Given the description of an element on the screen output the (x, y) to click on. 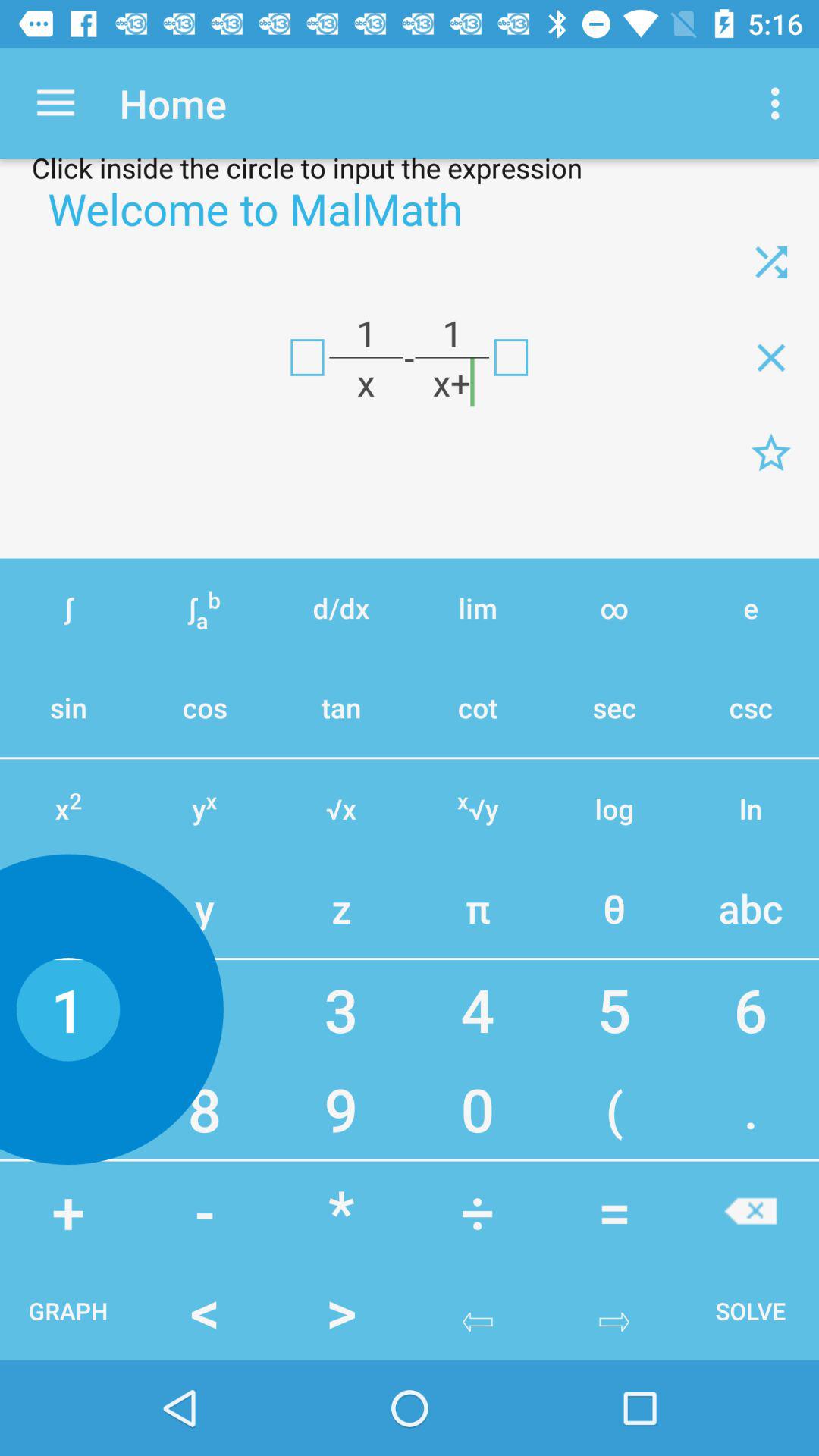
cancel selection (750, 1210)
